Given the description of an element on the screen output the (x, y) to click on. 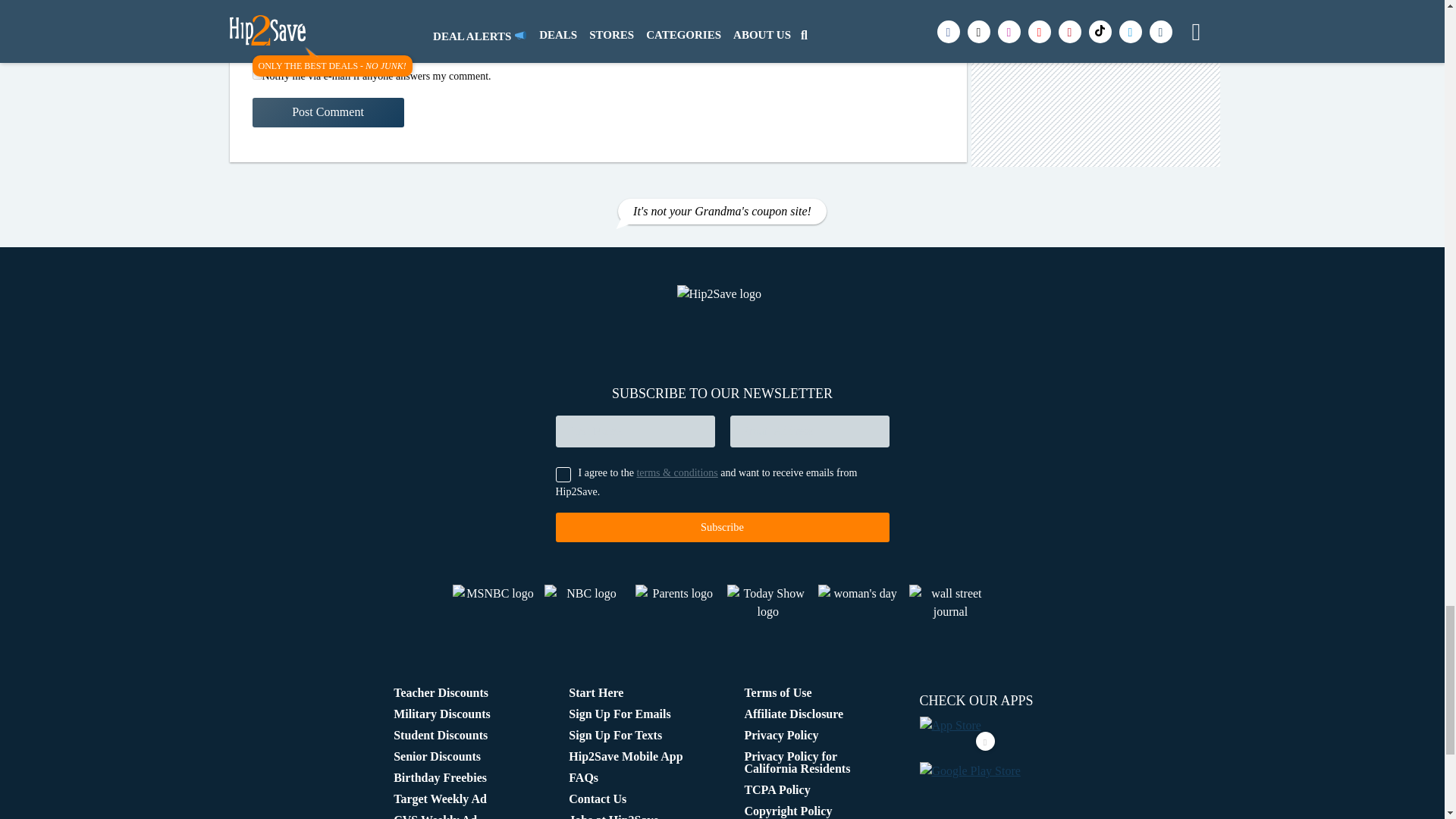
on (256, 74)
Subscribe (721, 527)
Post Comment (327, 112)
